Given the description of an element on the screen output the (x, y) to click on. 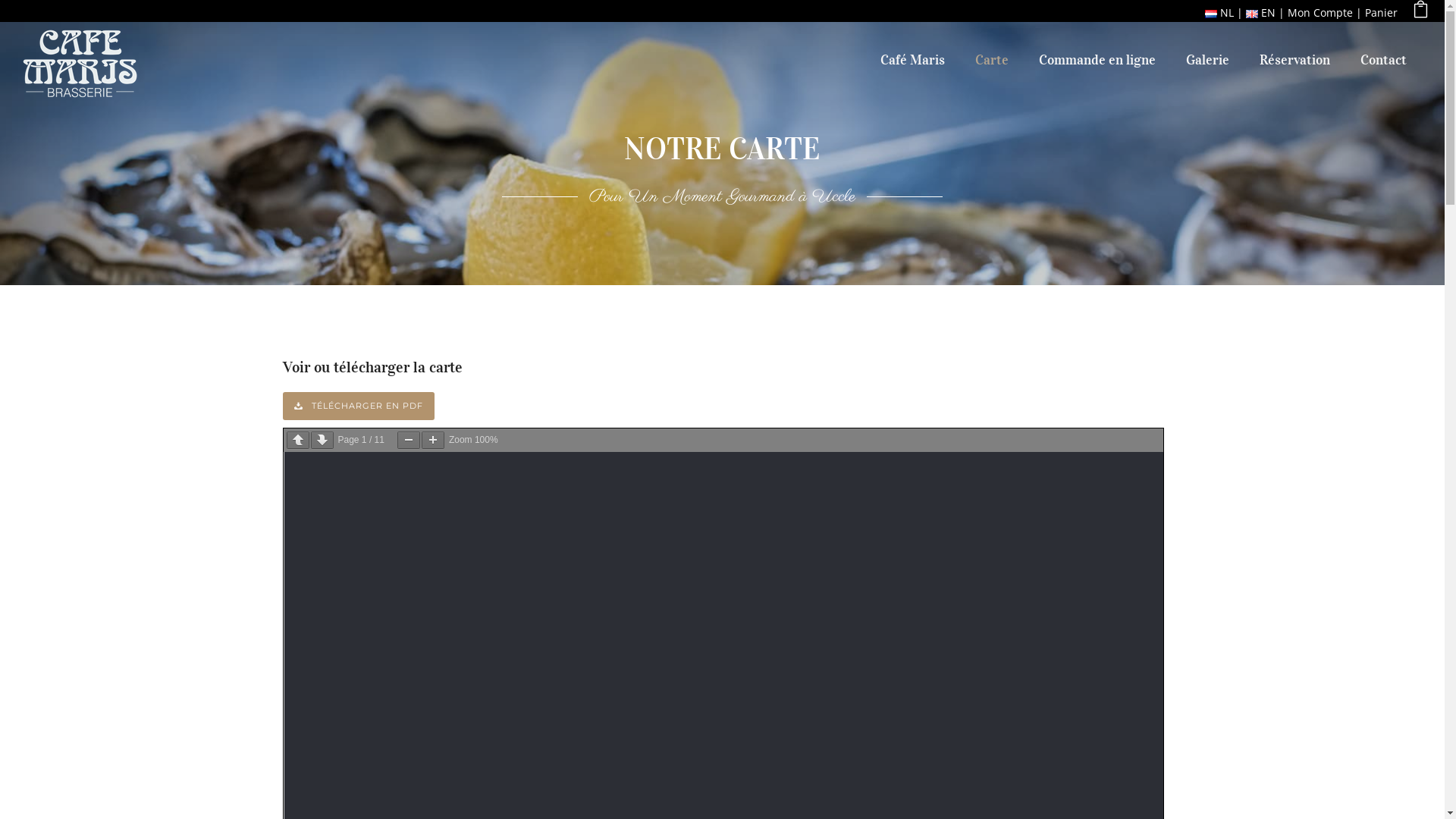
NL Element type: text (1218, 12)
Galerie Element type: text (1207, 59)
Mon Compte Element type: text (1319, 12)
EN Element type: text (1260, 12)
Panier Element type: text (1381, 12)
Commande en ligne Element type: text (1096, 59)
Carte Element type: text (991, 59)
Page suivante Element type: hover (321, 439)
Zoomer Element type: hover (432, 439)
Contact Element type: text (1383, 59)
View your shopping cart Element type: hover (1420, 12)
